Given the description of an element on the screen output the (x, y) to click on. 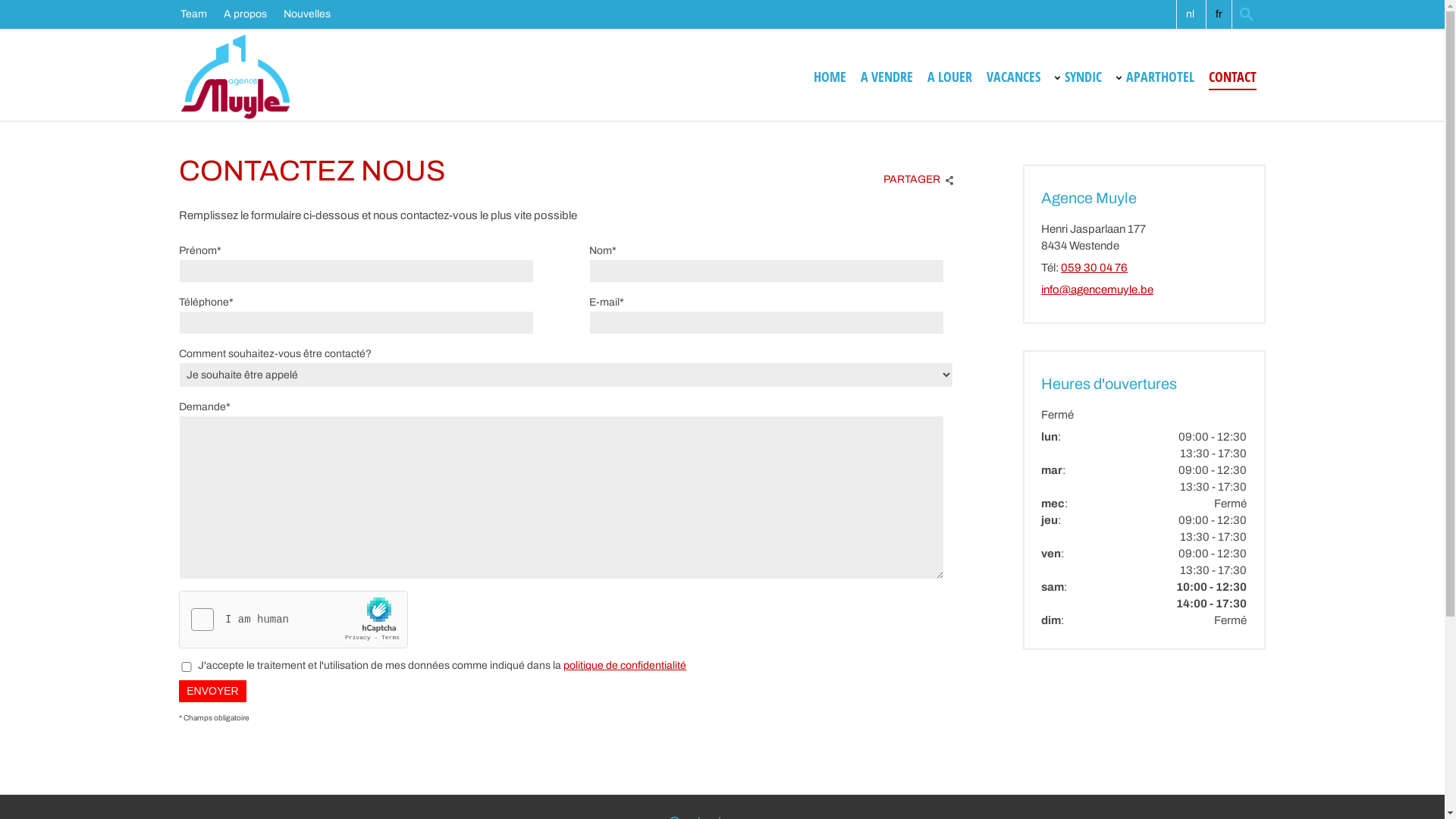
  Element type: text (1248, 14)
A LOUER Element type: text (949, 75)
CONTACT Element type: text (1232, 75)
Team Element type: text (201, 14)
A VENDRE Element type: text (886, 75)
Widget containing checkbox for hCaptcha security challenge Element type: hover (293, 619)
info@agencemuyle.be Element type: text (1097, 289)
059 30 04 76 Element type: text (1093, 267)
PARTAGER Element type: text (915, 175)
ENVOYER Element type: text (211, 691)
A propos Element type: text (253, 14)
Chercher Element type: hover (1248, 14)
nl Element type: text (1189, 14)
VACANCES Element type: text (1013, 75)
Agence Muyle Element type: hover (235, 76)
SYNDIC Element type: text (1082, 75)
Nouvelles Element type: text (315, 14)
fr Element type: text (1218, 14)
APARTHOTEL Element type: text (1160, 75)
HOME Element type: text (829, 75)
